Given the description of an element on the screen output the (x, y) to click on. 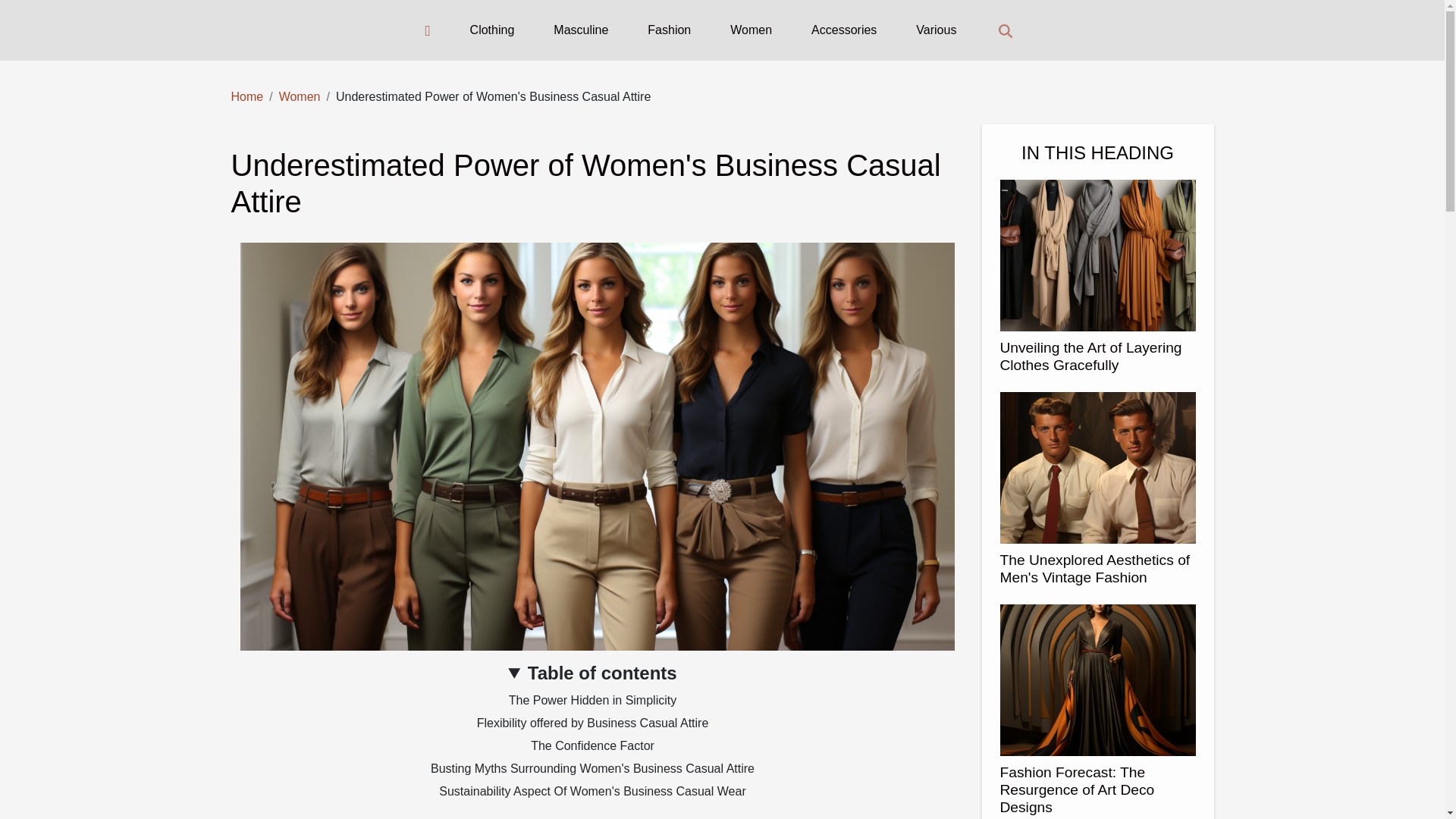
Women (750, 30)
Fashion Forecast: The Resurgence of Art Deco Designs (1096, 678)
Sustainability Aspect Of Women's Business Casual Wear (592, 790)
Fashion Forecast: The Resurgence of Art Deco Designs (1076, 789)
Unveiling the Art of Layering Clothes Gracefully (1089, 356)
Flexibility offered by Business Casual Attire (593, 722)
Women (299, 96)
Clothing (492, 30)
Masculine (580, 30)
Unveiling the Art of Layering Clothes Gracefully (1089, 356)
Fashion (669, 30)
The Unexplored Aesthetics of Men's Vintage Fashion (1093, 568)
Busting Myths Surrounding Women's Business Casual Attire (592, 768)
The Confidence Factor (592, 745)
Various (936, 30)
